Given the description of an element on the screen output the (x, y) to click on. 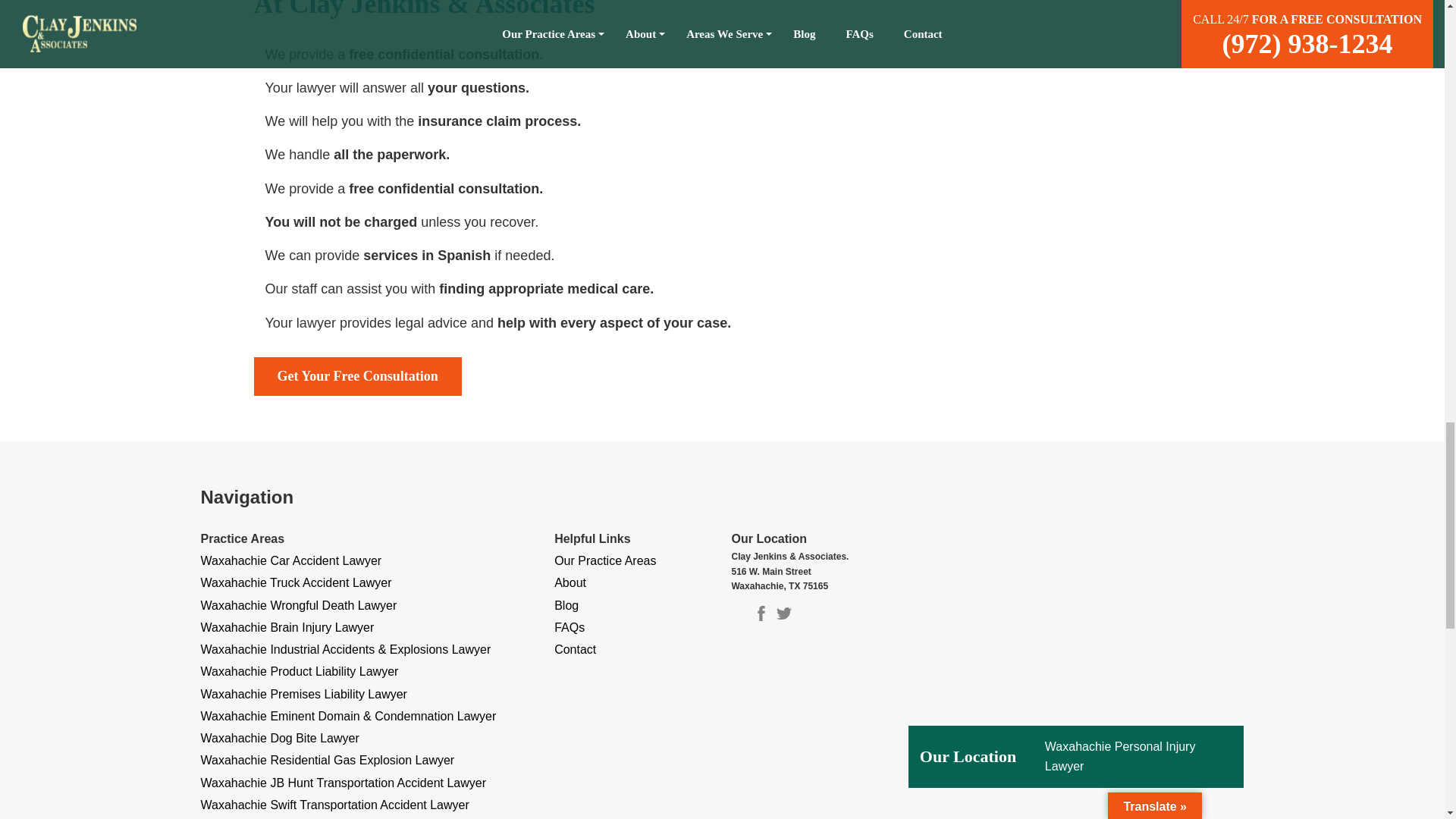
Facebook (761, 615)
Twitter (784, 615)
Email (737, 615)
Get Your Free Consultation (357, 376)
